Given the description of an element on the screen output the (x, y) to click on. 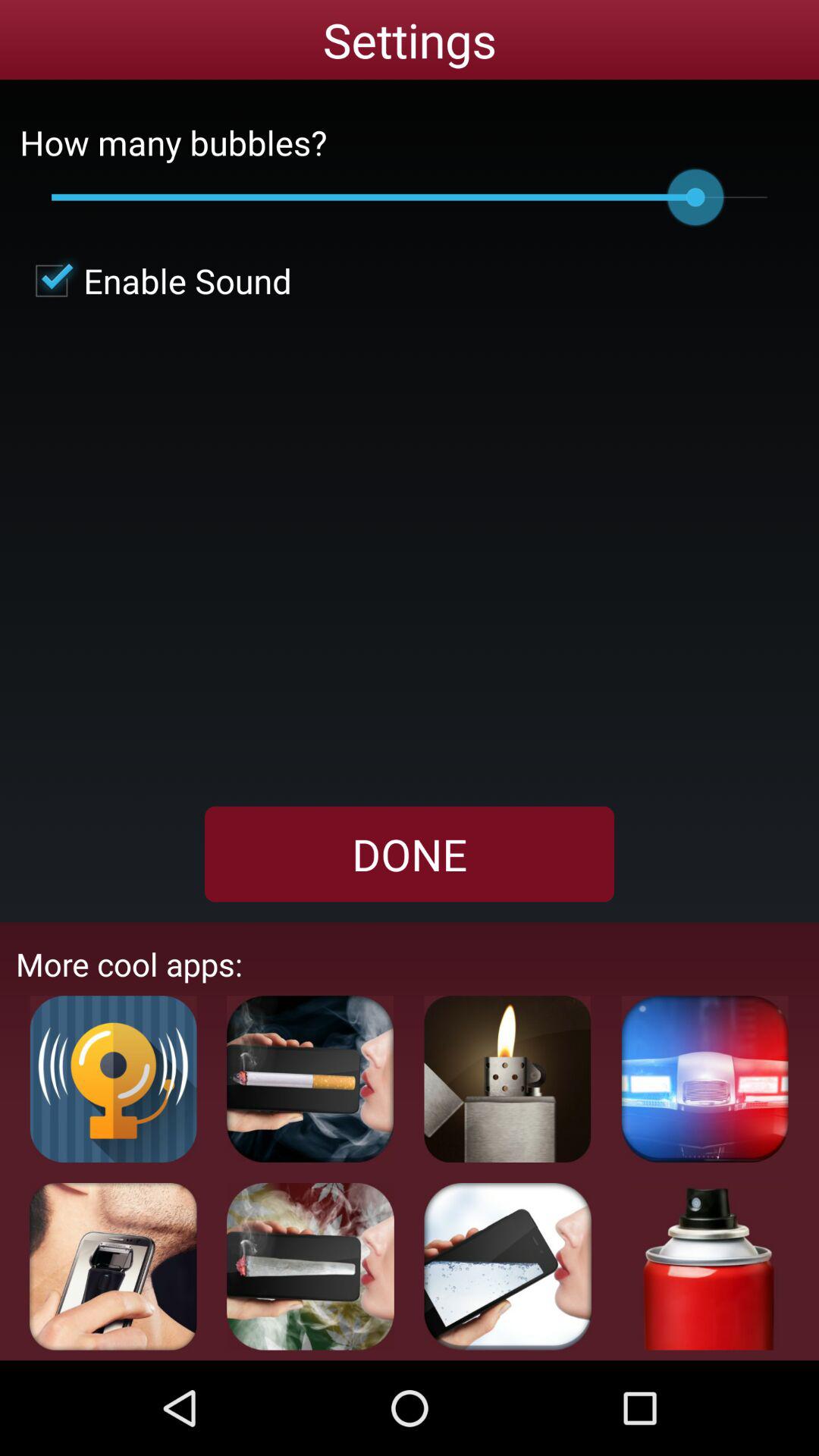
choose item at the top left corner (155, 280)
